Given the description of an element on the screen output the (x, y) to click on. 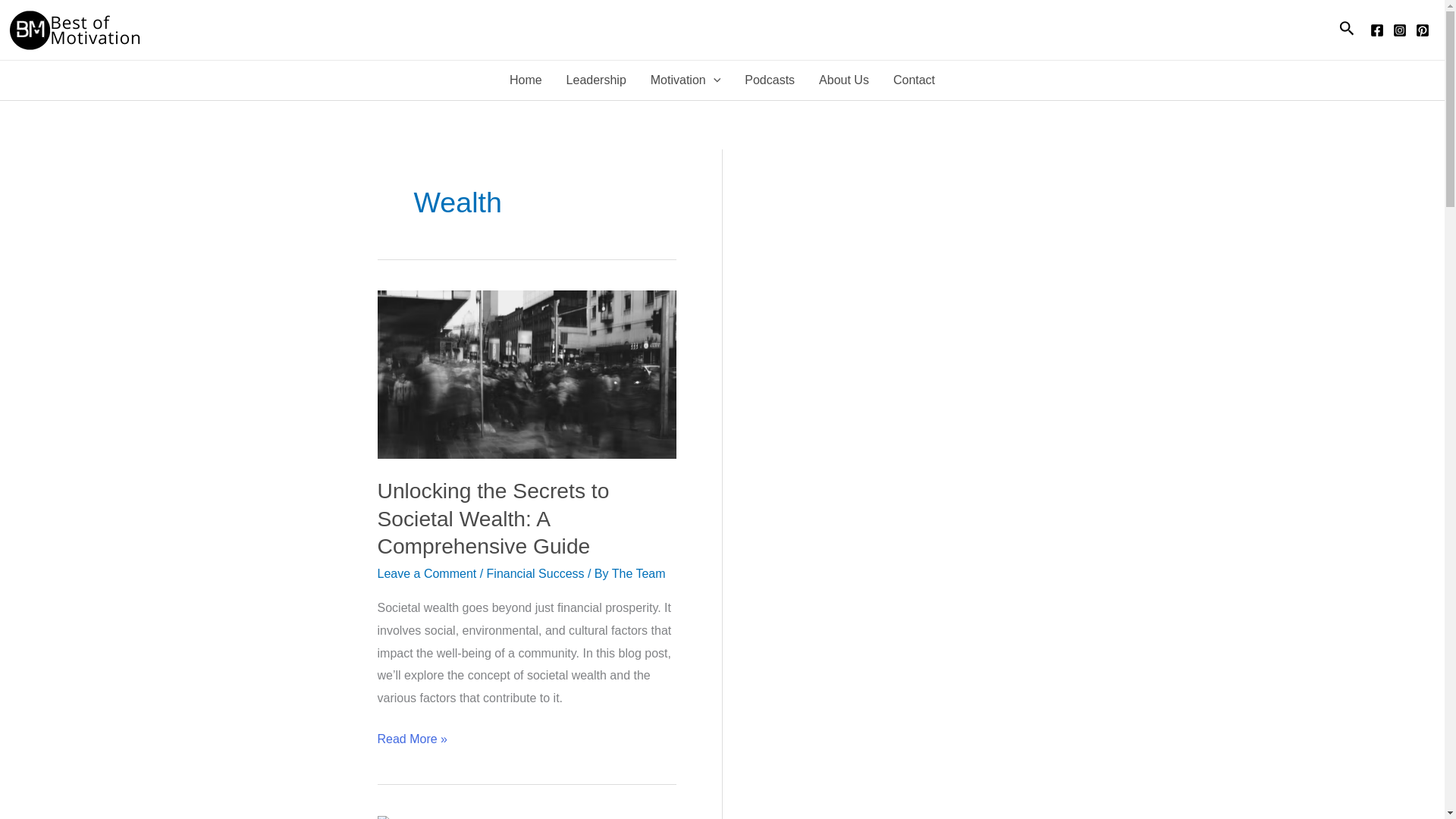
Motivation (686, 79)
View all posts by The Team (638, 573)
Leadership (596, 79)
Contact (913, 79)
Leave a Comment (427, 573)
About Us (843, 79)
Financial Success (535, 573)
The Team (638, 573)
Home (525, 79)
